Given the description of an element on the screen output the (x, y) to click on. 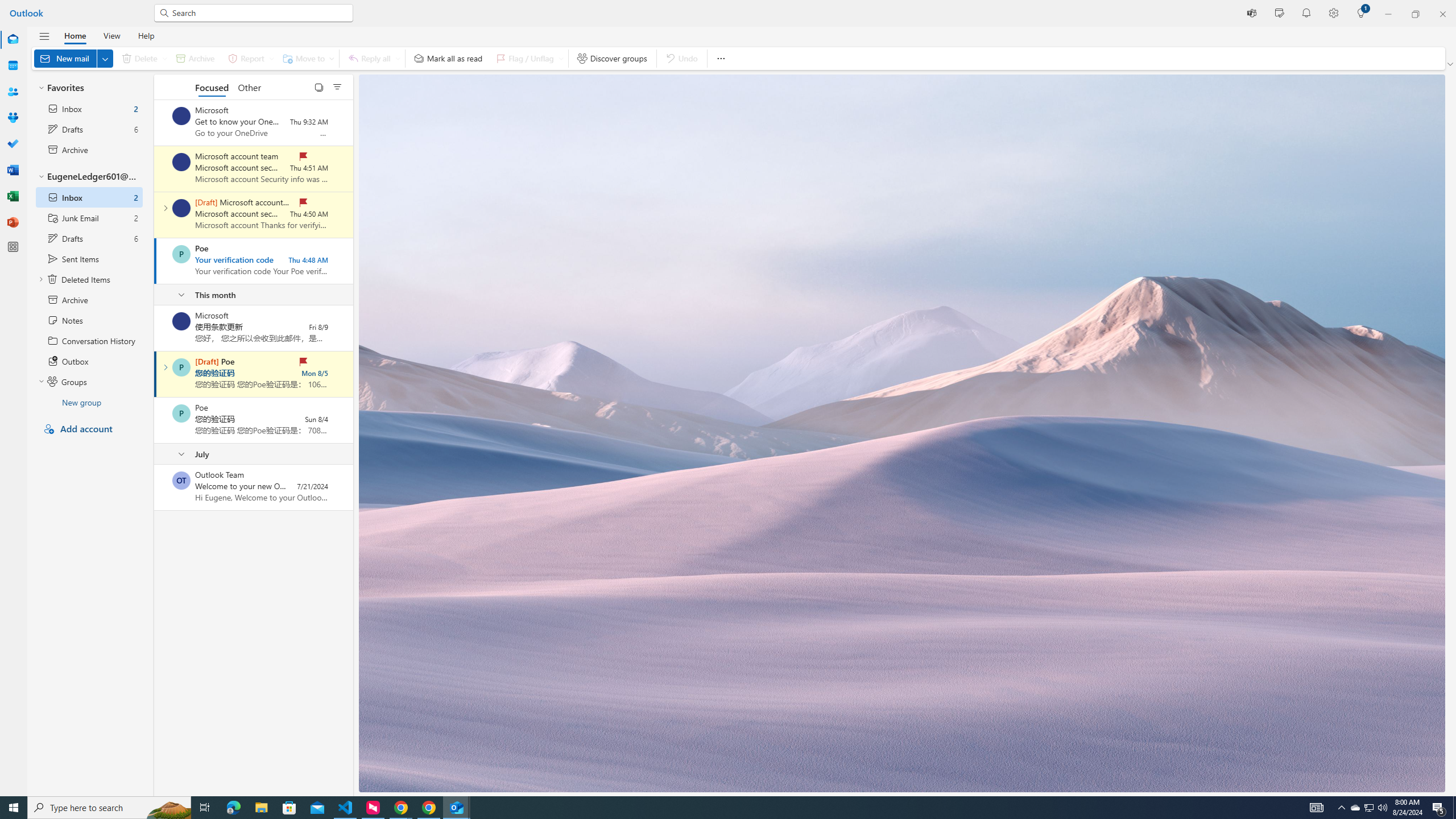
Hide navigation pane (44, 36)
